Given the description of an element on the screen output the (x, y) to click on. 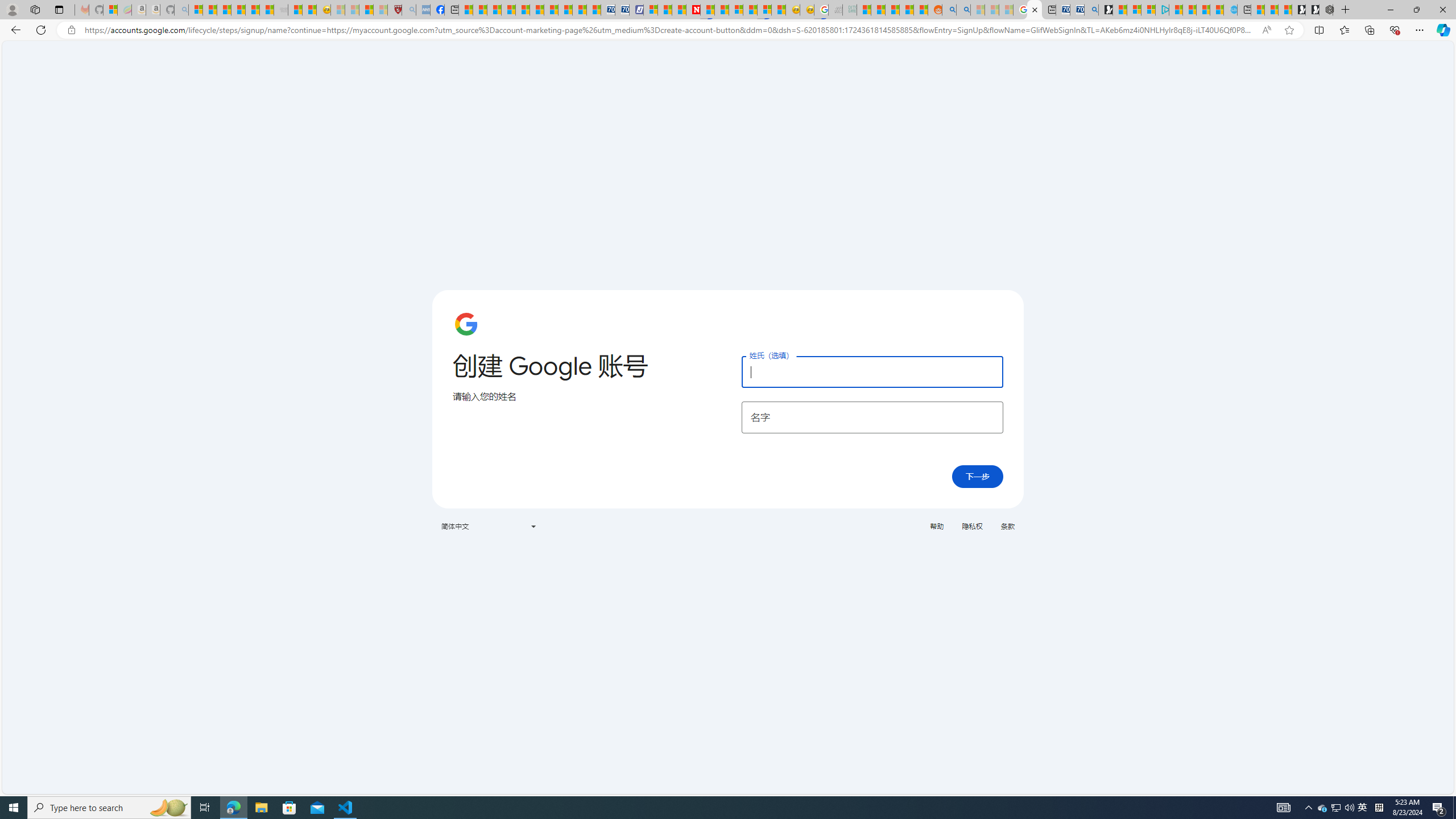
Utah sues federal government - Search (963, 9)
